Given the description of an element on the screen output the (x, y) to click on. 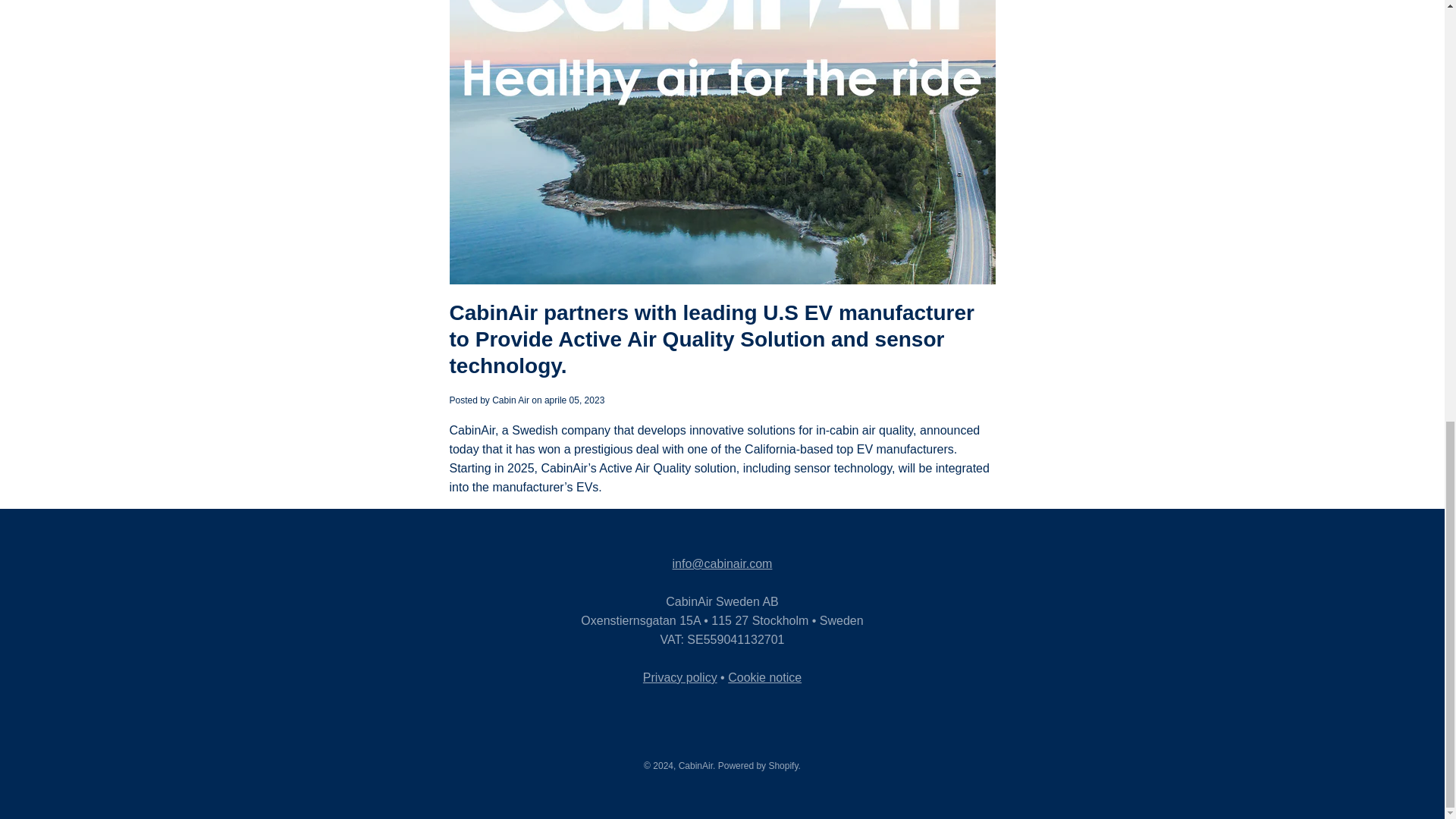
Privacy policy (680, 676)
Cookie notice (765, 676)
